Given the description of an element on the screen output the (x, y) to click on. 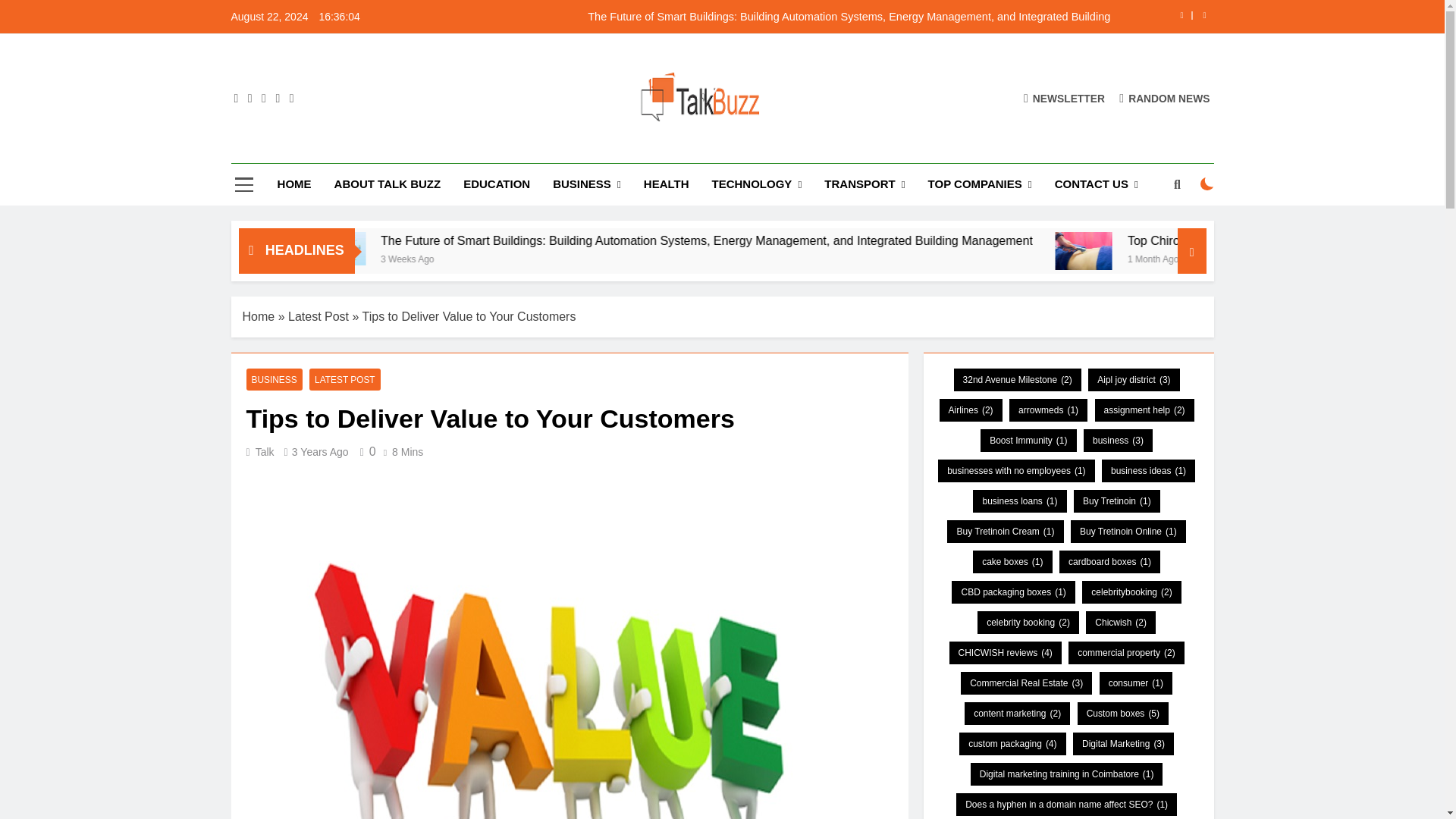
EDUCATION (496, 183)
RANDOM NEWS (1164, 97)
Talk Buzz (503, 149)
ABOUT TALK BUZZ (387, 183)
BUSINESS (586, 184)
on (1206, 183)
HOME (294, 183)
NEWSLETTER (1064, 97)
